Given the description of an element on the screen output the (x, y) to click on. 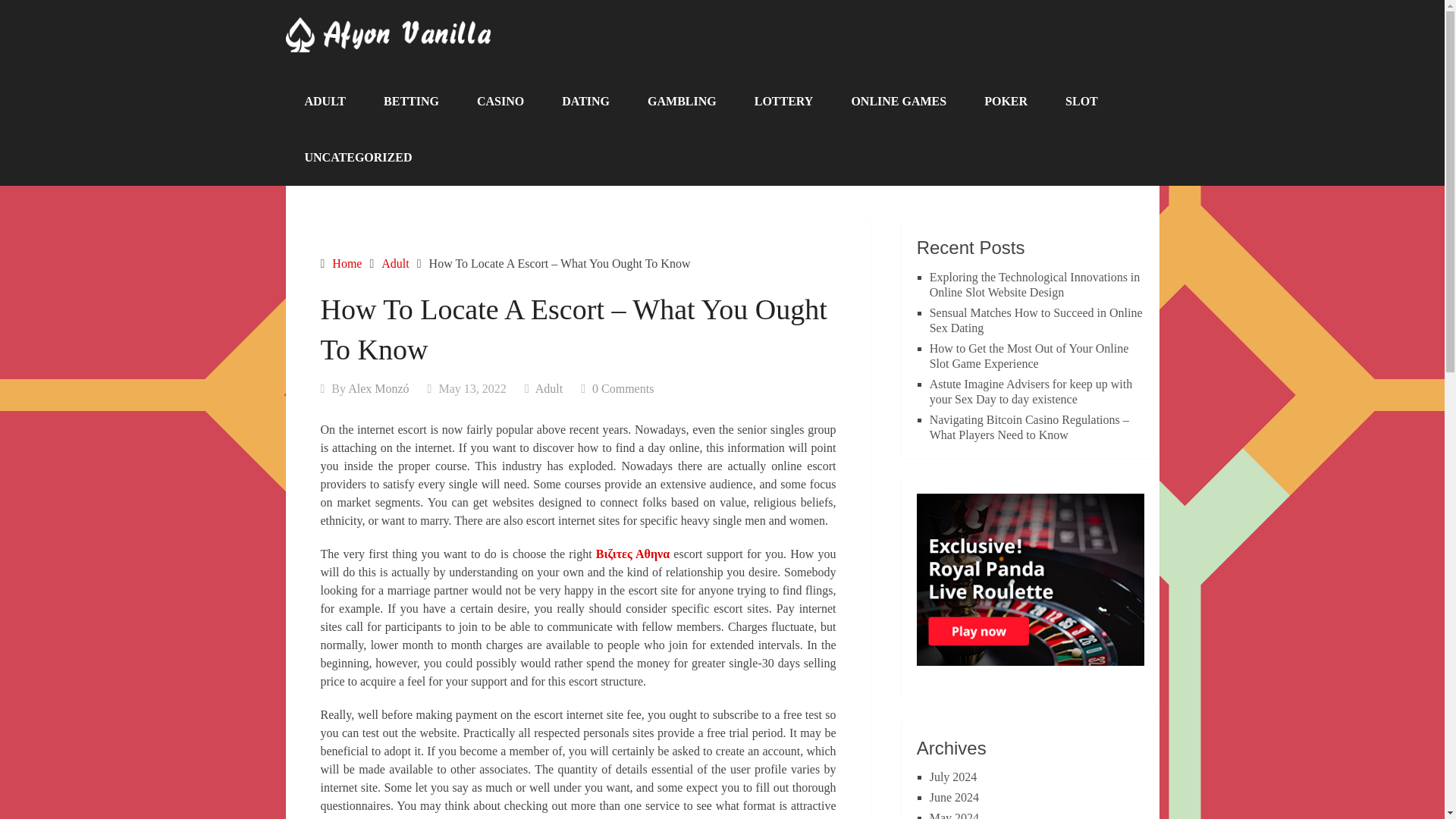
May 2024 (954, 815)
ONLINE GAMES (898, 101)
Home (346, 263)
UNCATEGORIZED (357, 157)
Sensual Matches How to Succeed in Online Sex Dating (1036, 320)
SLOT (1081, 101)
POKER (1005, 101)
0 Comments (622, 388)
DATING (585, 101)
GAMBLING (681, 101)
Adult (395, 263)
ADULT (325, 101)
CASINO (500, 101)
BETTING (411, 101)
